Given the description of an element on the screen output the (x, y) to click on. 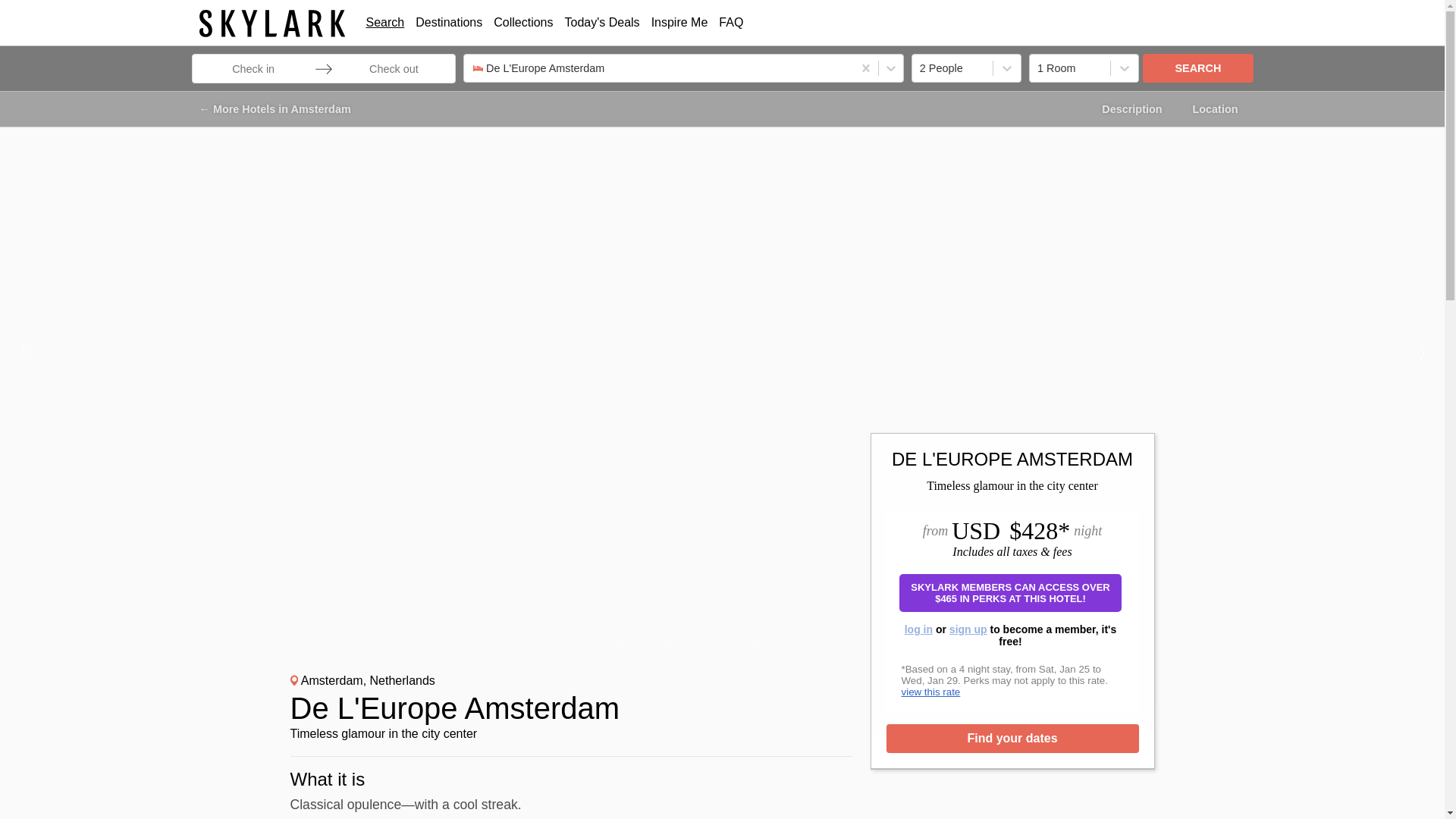
6 (733, 648)
Location (1215, 109)
8 (779, 648)
Find your dates (1011, 737)
5 (711, 648)
FAQ (730, 21)
log in (918, 629)
Today's Deals (602, 21)
7 (756, 648)
view this rate (930, 691)
